Given the description of an element on the screen output the (x, y) to click on. 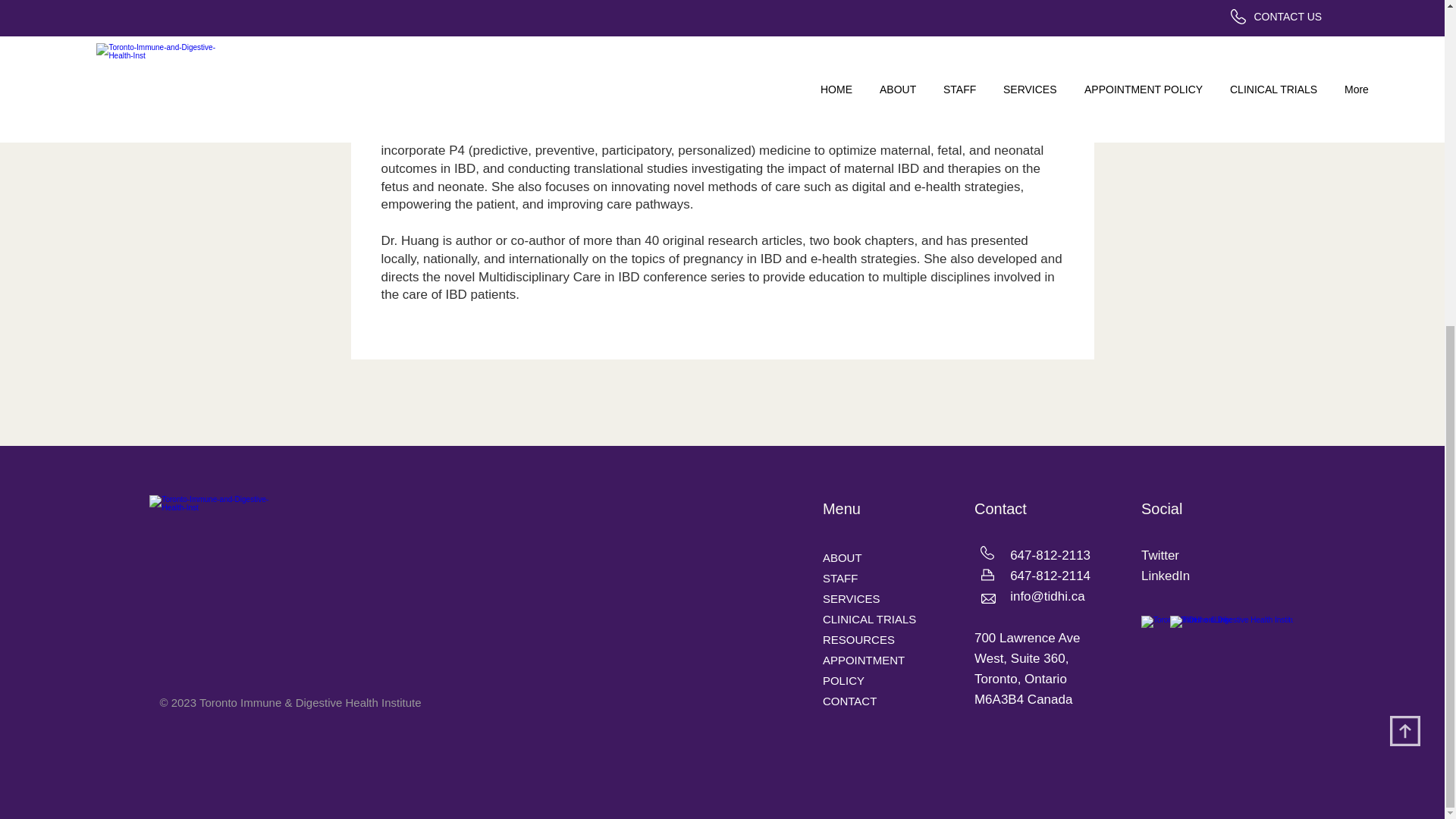
CONTACT (849, 700)
STAFF (839, 577)
APPOINTMENT POLI (863, 670)
700 Lawrence Ave West, Suite 360, (1027, 647)
LinkedIn (1165, 575)
M6A3B4 Canada (1022, 699)
SERVICES (851, 598)
Toronto, Ontario (1020, 678)
CLINICAL TRIALS (868, 618)
Twitter (1160, 554)
